Given the description of an element on the screen output the (x, y) to click on. 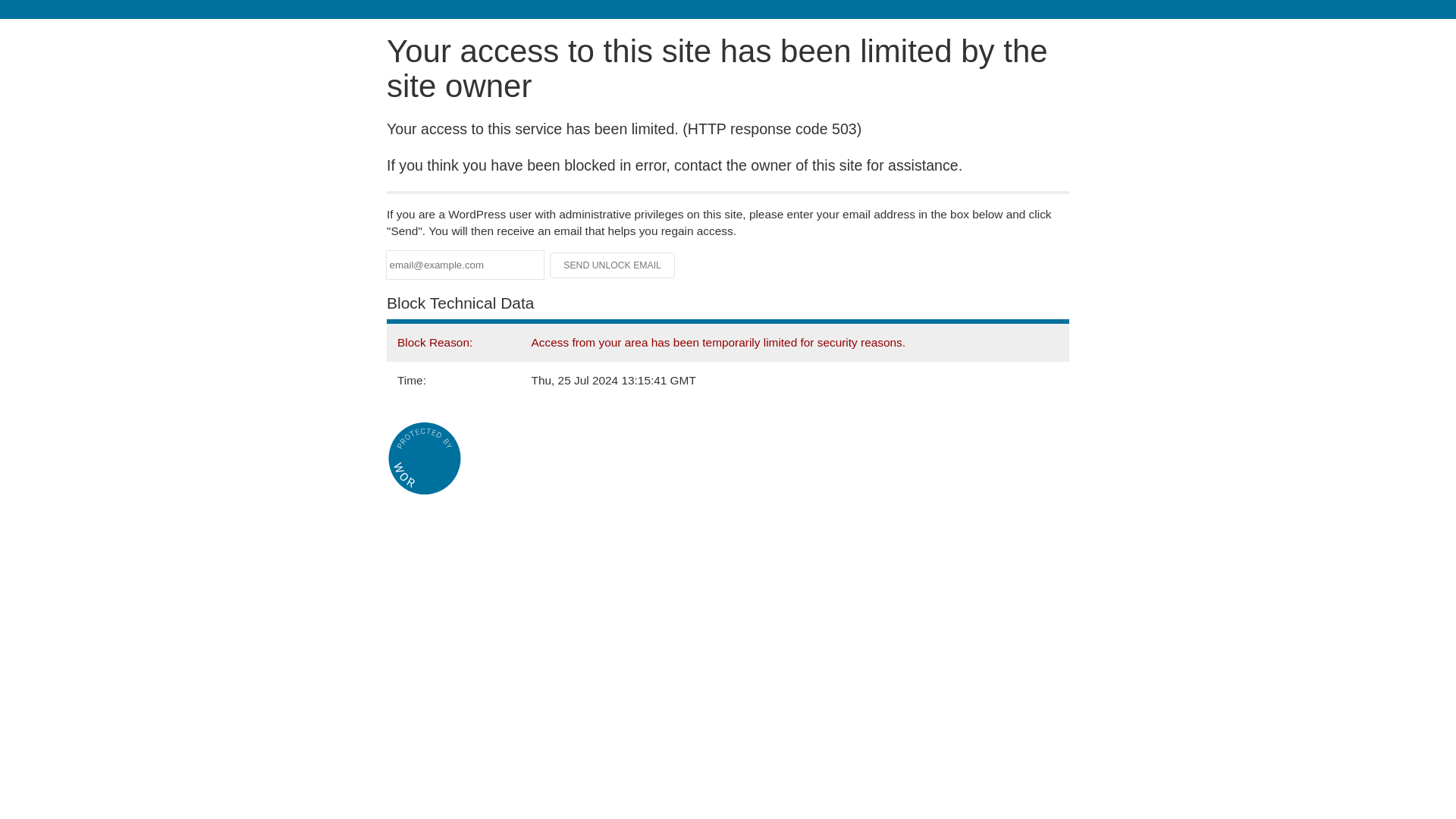
Send Unlock Email (612, 265)
Send Unlock Email (612, 265)
